Given the description of an element on the screen output the (x, y) to click on. 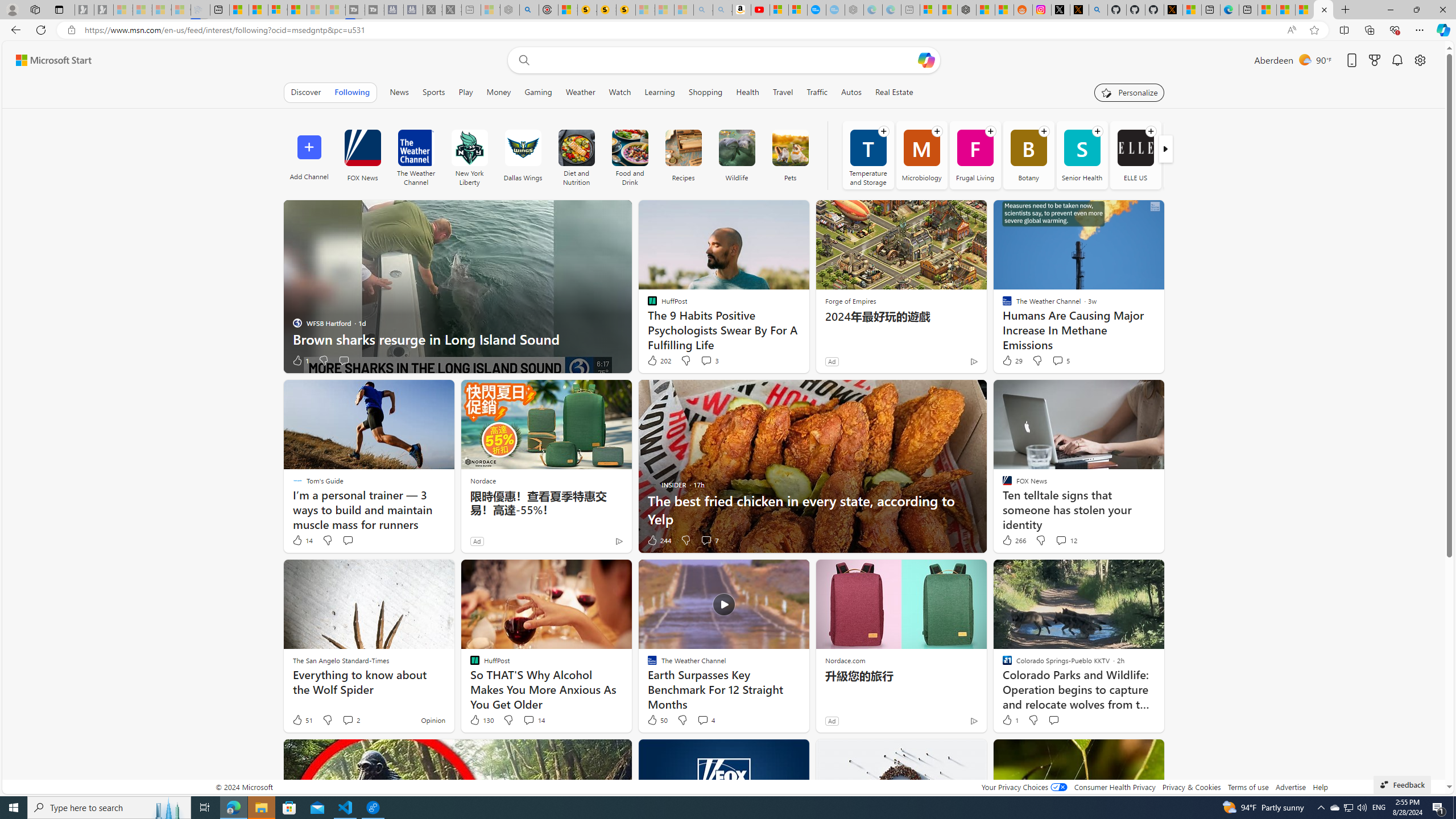
View comments 5 Comment (1060, 360)
Pets (789, 147)
Autos (850, 92)
244 Like (658, 539)
Michelle Starr, Senior Journalist at ScienceAlert (625, 9)
SB Nation (1188, 155)
FOX News (362, 155)
Diet and Nutrition (576, 155)
Learning (659, 92)
Nordace - Summer Adventures 2024 - Sleeping (509, 9)
202 Like (658, 360)
Recipes (683, 155)
